Given the description of an element on the screen output the (x, y) to click on. 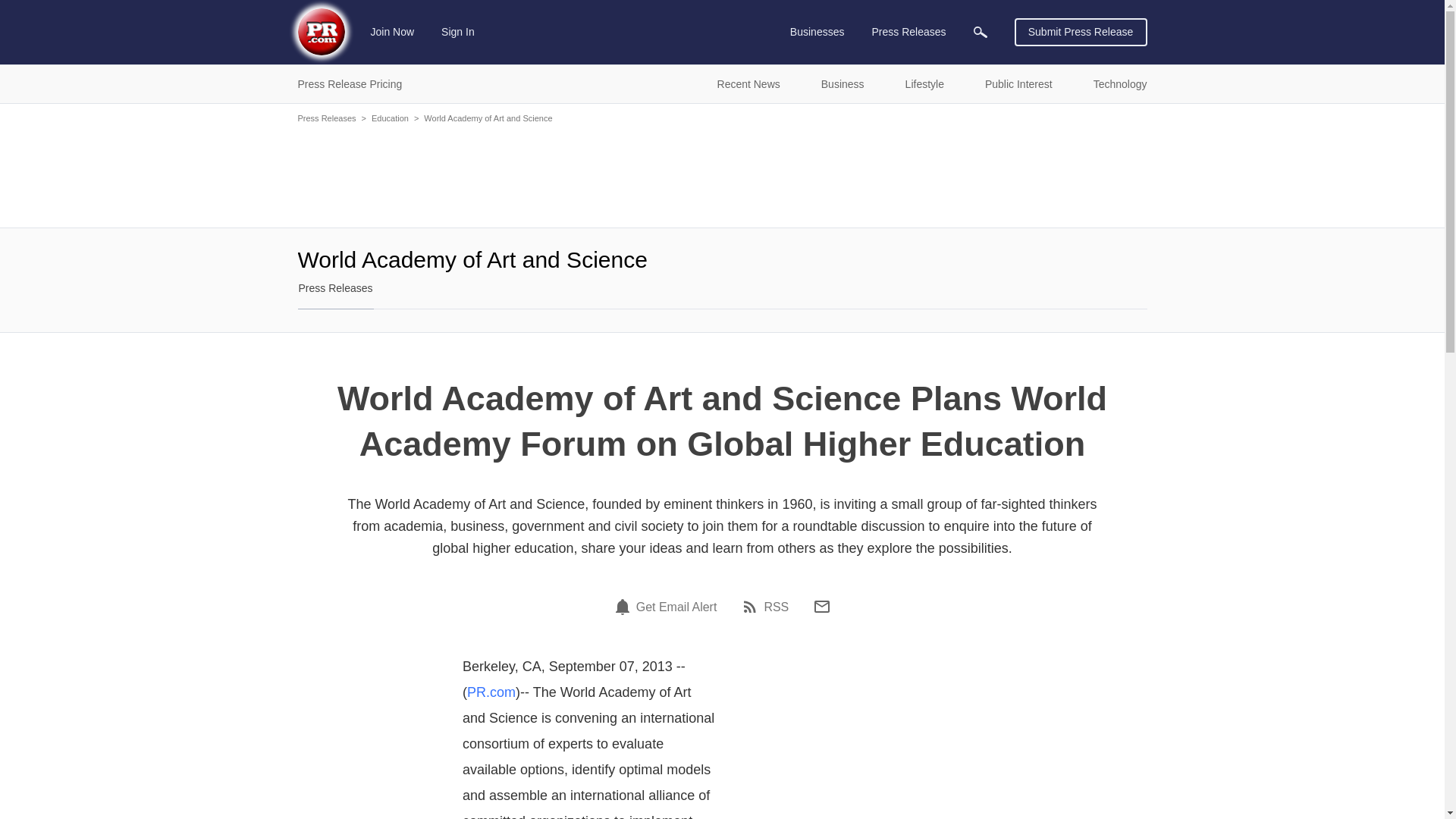
Press Releases (908, 31)
Businesses (817, 31)
Sign In (458, 31)
Advertisement (722, 174)
Advertisement (867, 739)
Submit Press Release (1080, 31)
Join Now (392, 31)
